Given the description of an element on the screen output the (x, y) to click on. 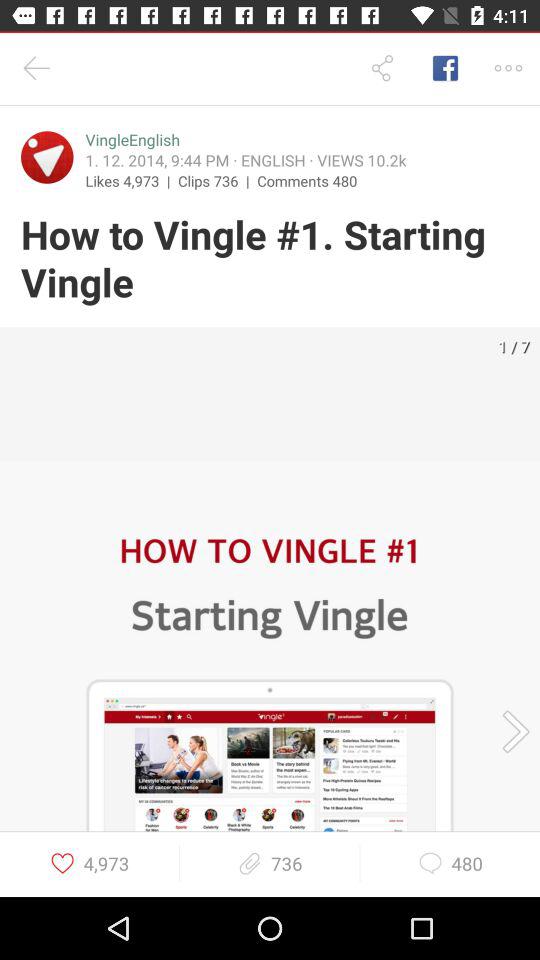
jump until the comments 480 item (307, 180)
